Given the description of an element on the screen output the (x, y) to click on. 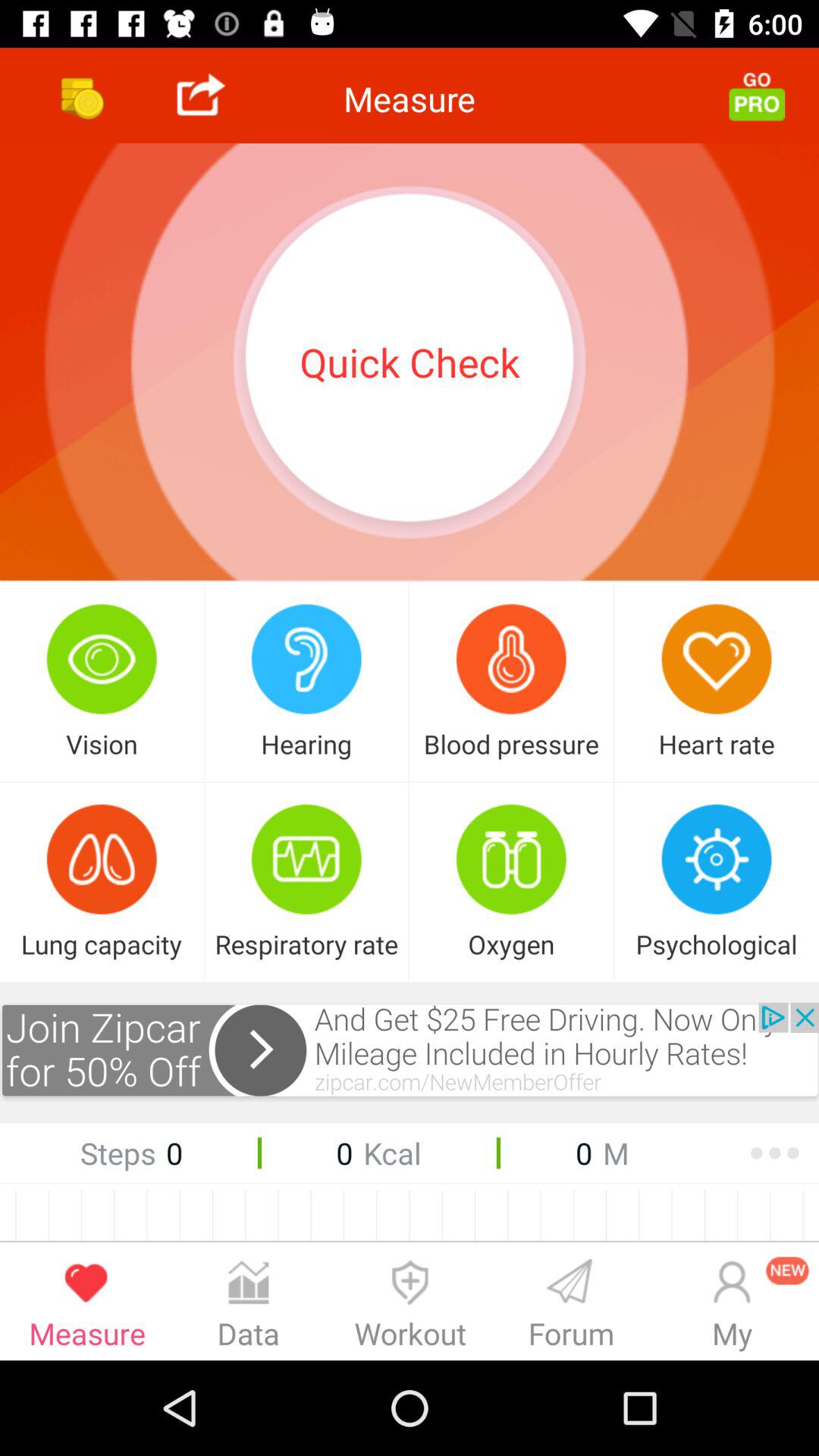
advertisement banner (409, 1052)
